Given the description of an element on the screen output the (x, y) to click on. 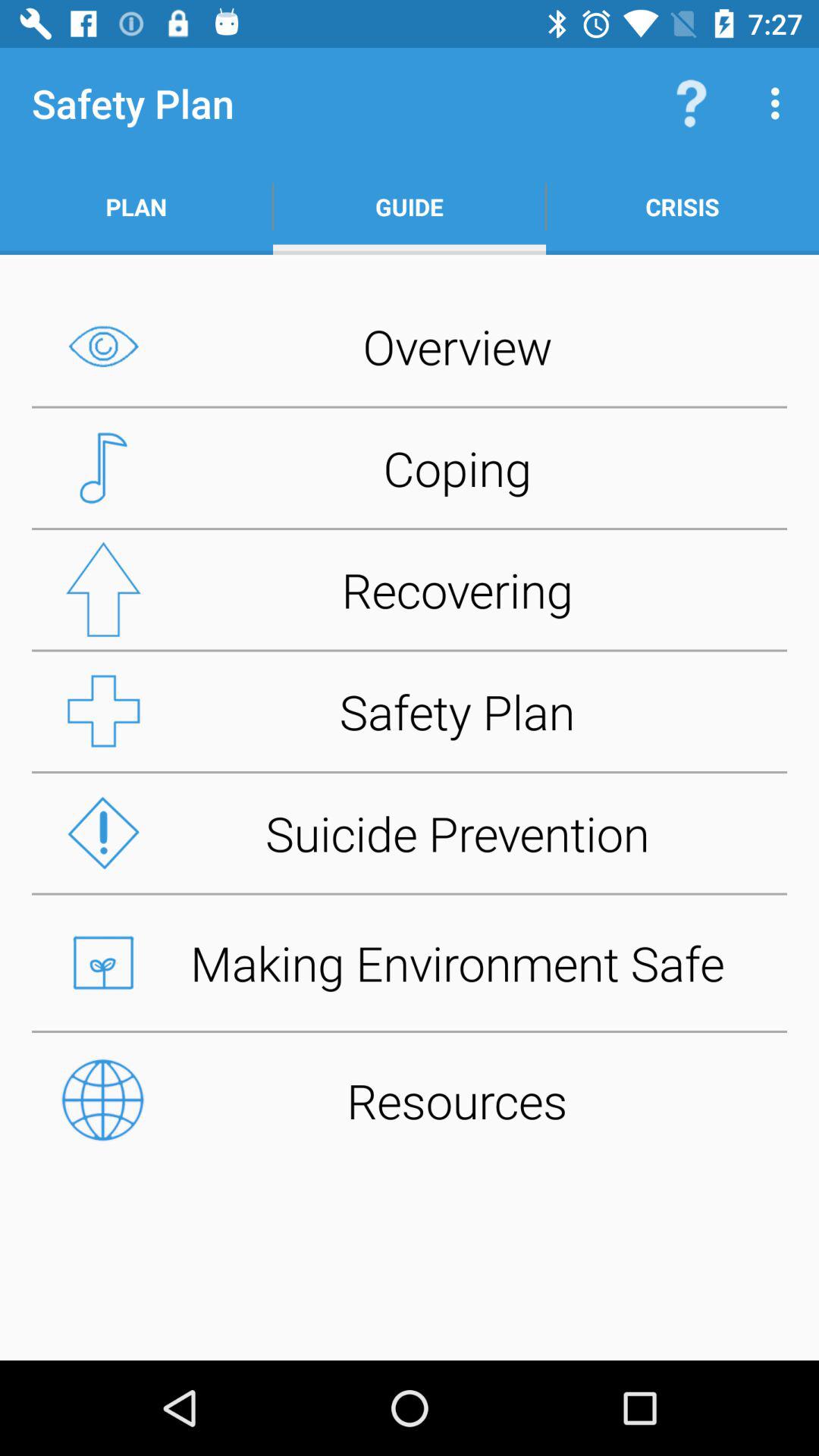
turn on item above crisis (779, 103)
